Given the description of an element on the screen output the (x, y) to click on. 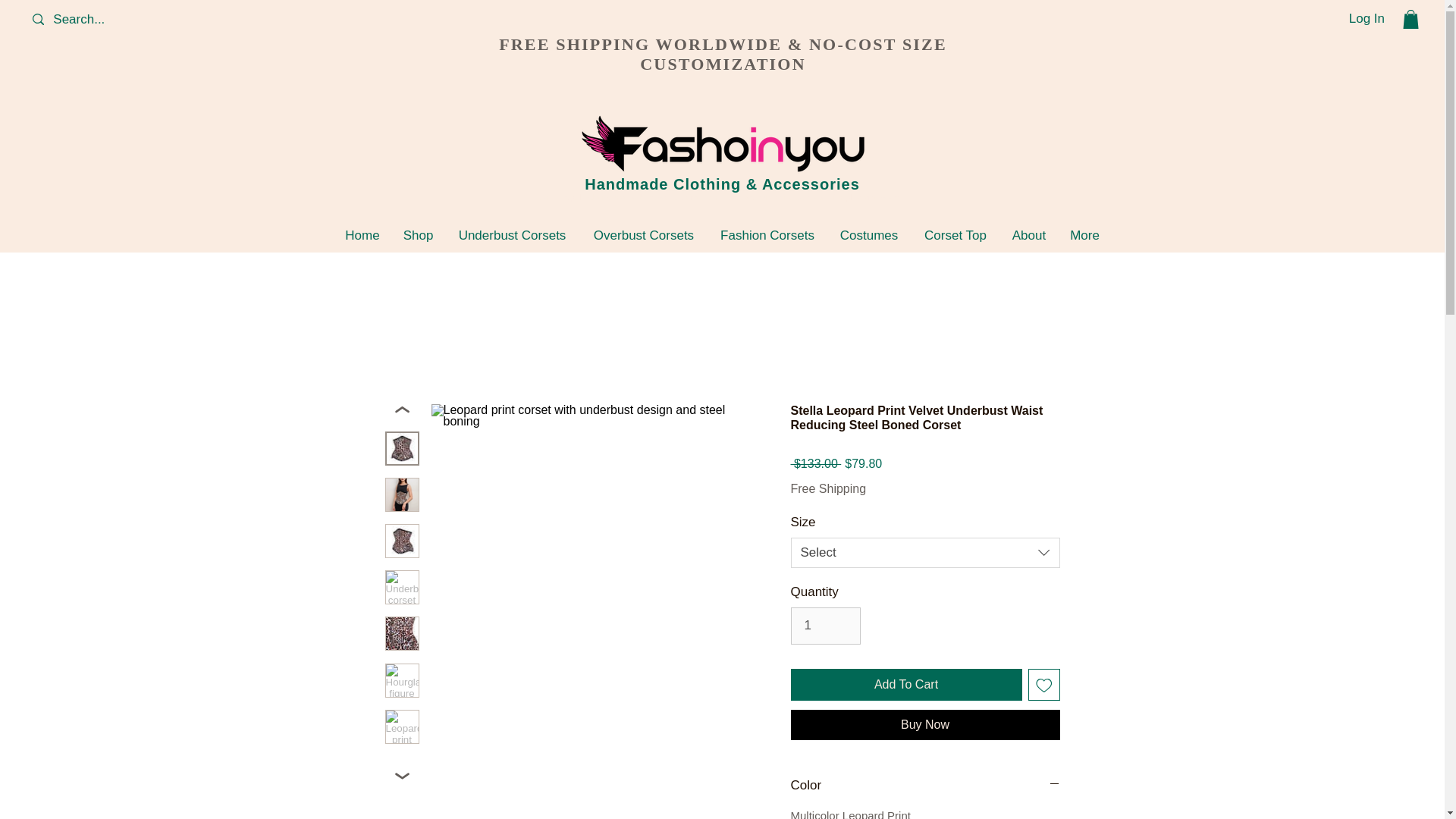
Underbust Corsets (511, 235)
Overbust Corsets (643, 235)
Fashion Corsets (767, 235)
Select (924, 552)
Buy Now (924, 725)
Shop (417, 235)
Add To Cart (906, 685)
Corset Top (955, 235)
Free Shipping (828, 488)
About (1028, 235)
Log In (1366, 18)
Color (924, 785)
Home (362, 235)
1 (825, 625)
Costumes (869, 235)
